Given the description of an element on the screen output the (x, y) to click on. 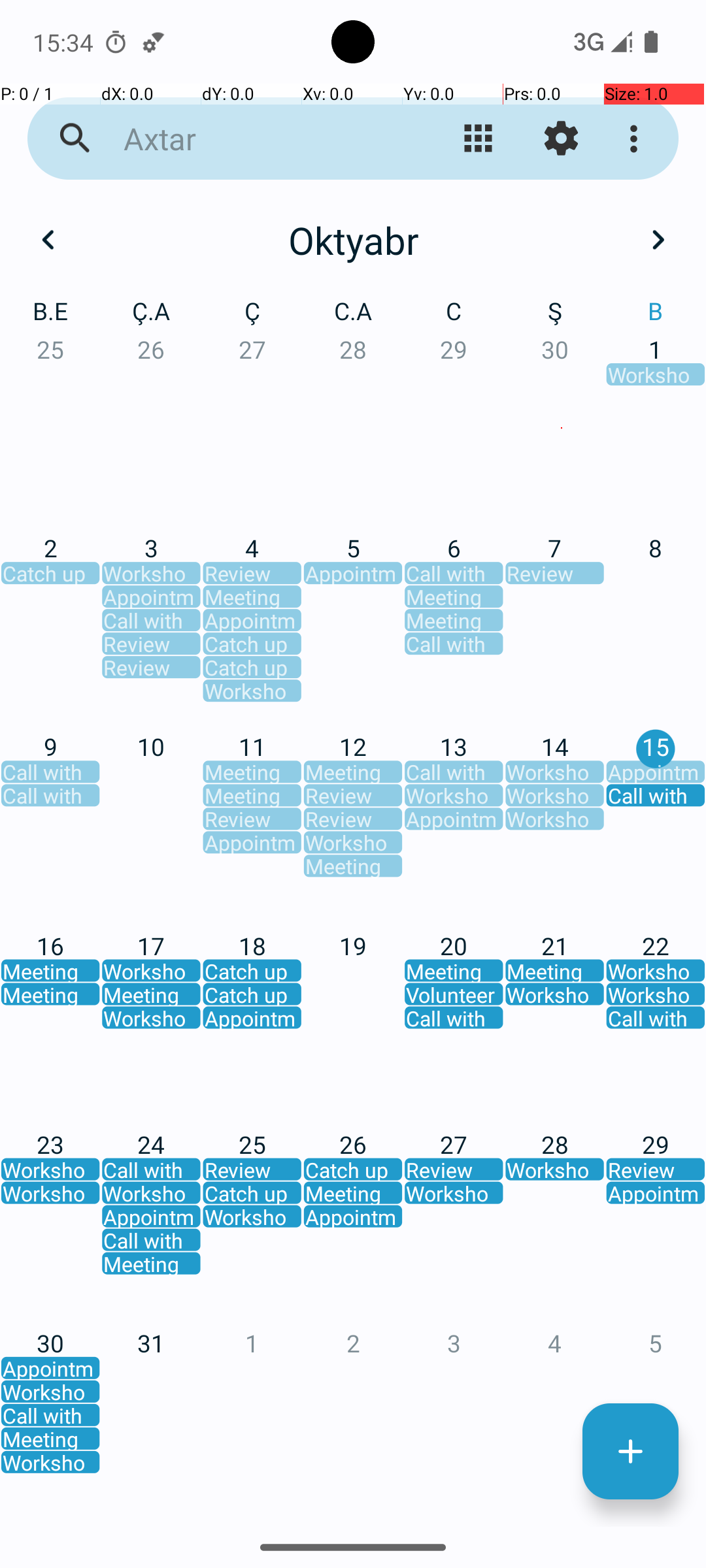
Axtar Element type: android.widget.EditText (252, 138)
Görünüşü dəyiş Element type: android.widget.Button (477, 138)
Digər seçimlər Element type: android.widget.ImageView (636, 138)
Oktyabr Element type: android.widget.TextView (352, 239)
